Given the description of an element on the screen output the (x, y) to click on. 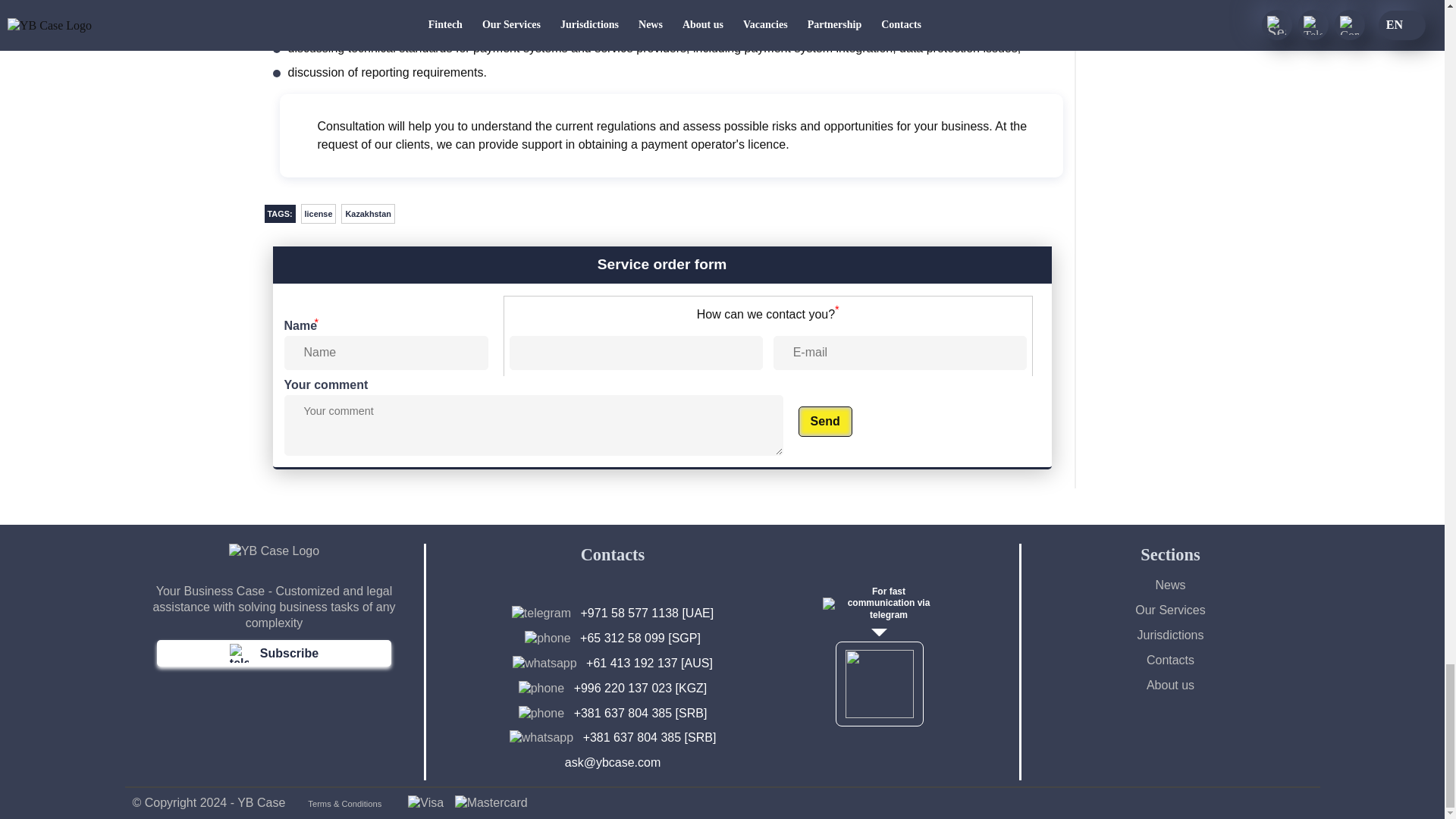
license (318, 213)
Send (824, 421)
Kazakhstan (367, 213)
